Given the description of an element on the screen output the (x, y) to click on. 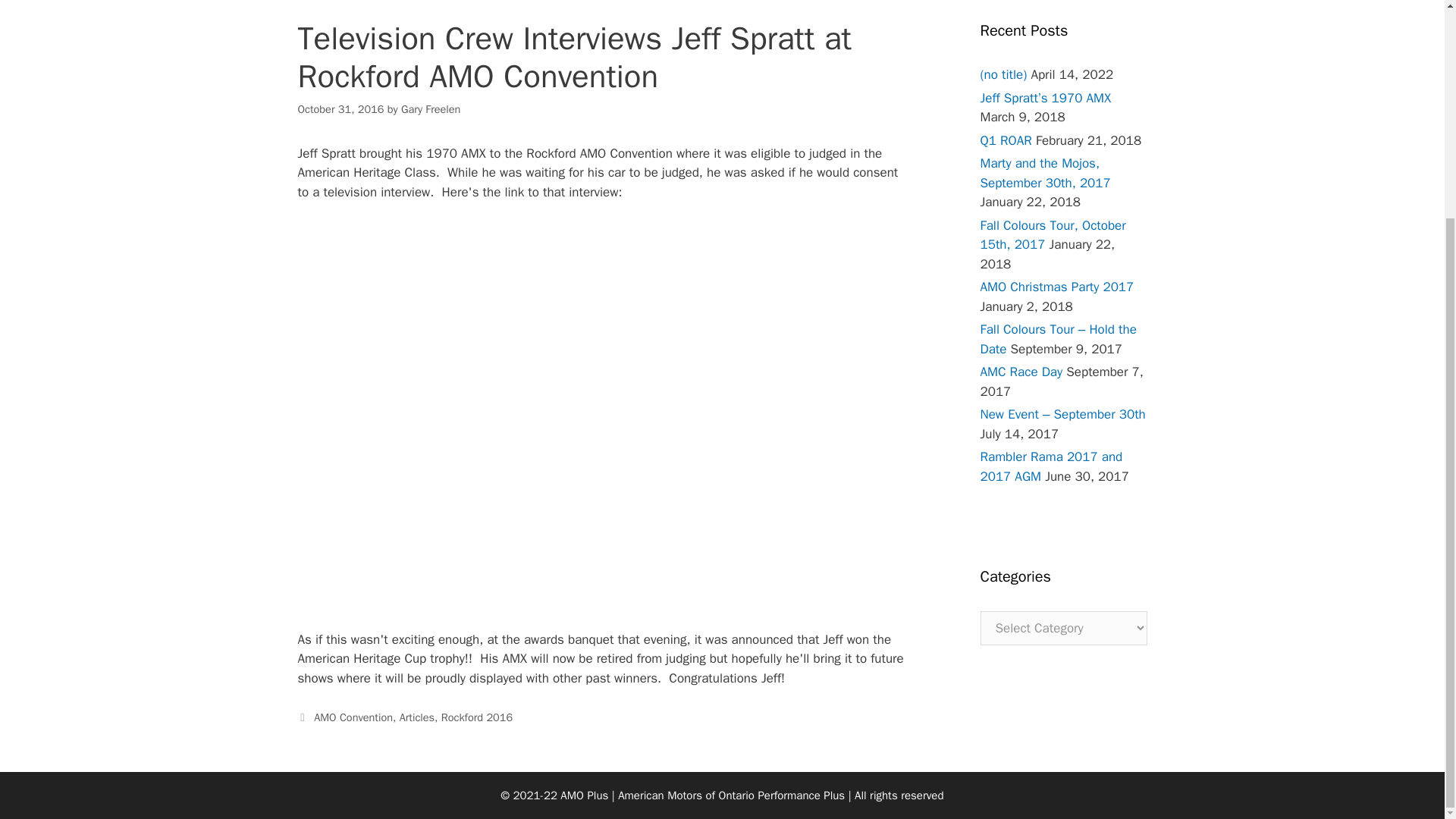
Q1 ROAR (1004, 139)
Marty and the Mojos, September 30th, 2017 (1044, 172)
View all posts by Gary Freelen (430, 109)
Gary Freelen (430, 109)
Fall Colours Tour, October 15th, 2017 (1052, 234)
AMO Convention (353, 716)
Articles (415, 716)
Rambler Rama 2017 and 2017 AGM (1050, 466)
AMC Race Day (1020, 371)
AMO Christmas Party 2017 (1056, 286)
Rockford 2016 (476, 716)
